Given the description of an element on the screen output the (x, y) to click on. 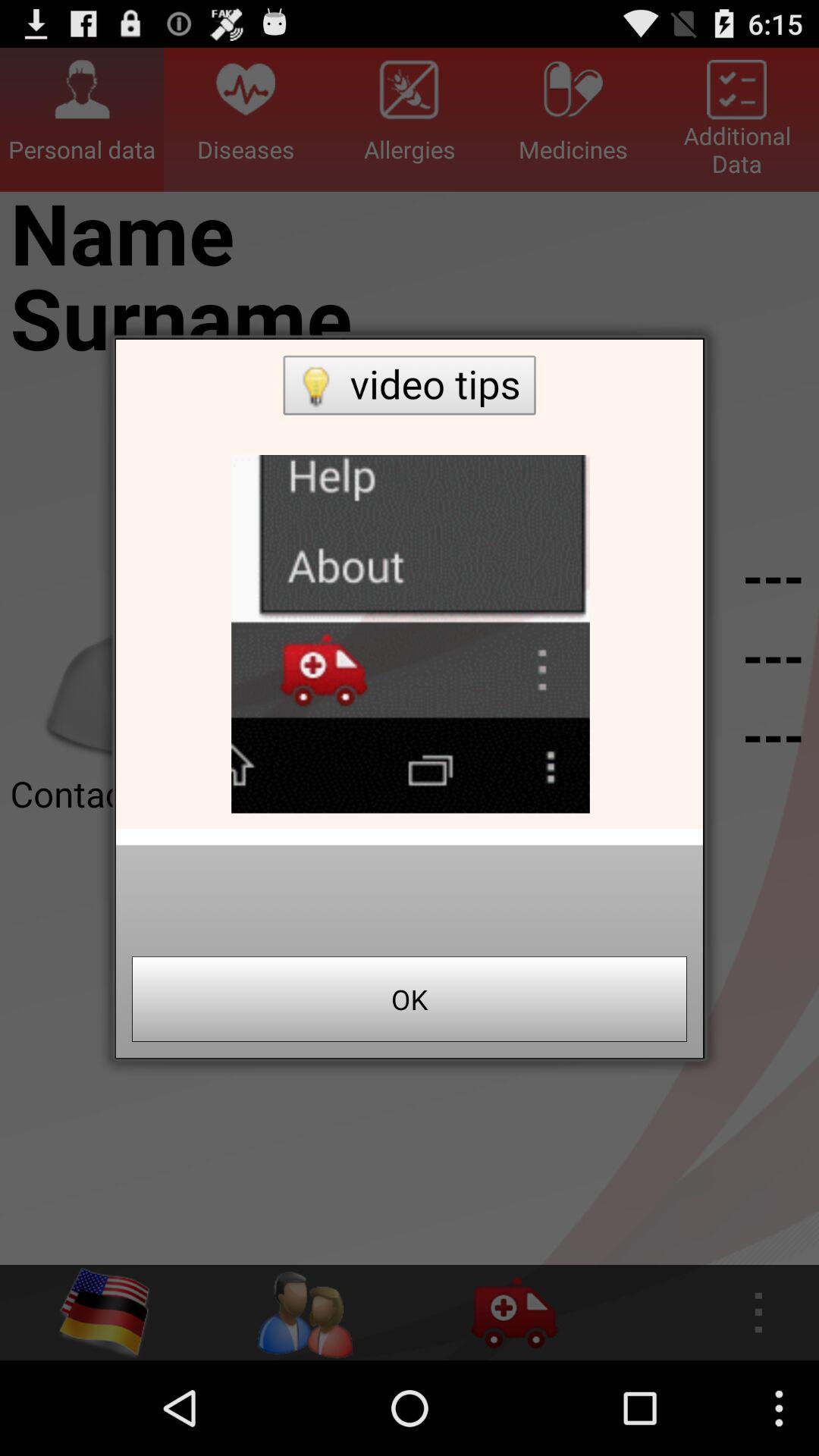
go to video tips (409, 584)
